Given the description of an element on the screen output the (x, y) to click on. 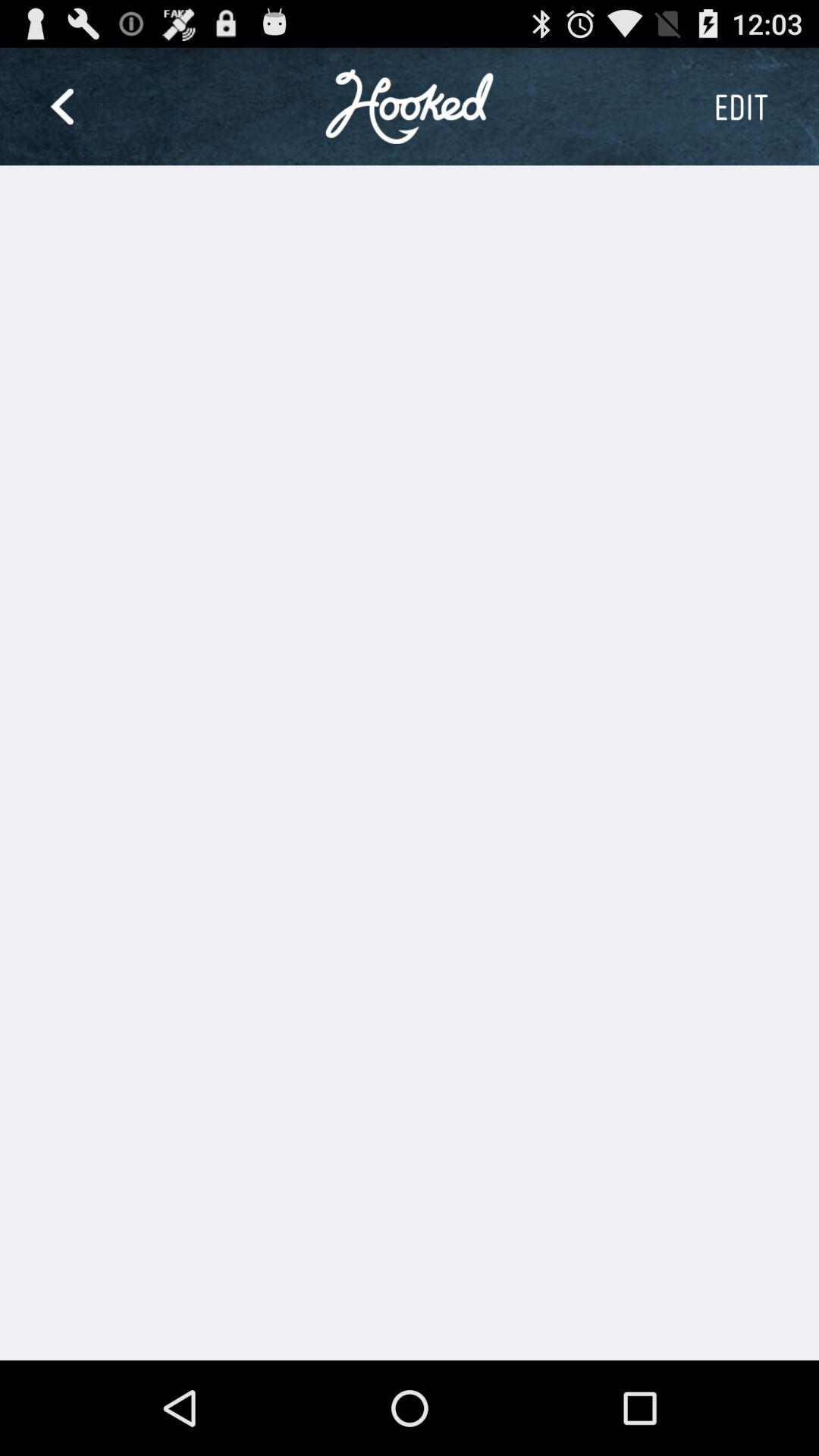
launch item at the top left corner (61, 106)
